Given the description of an element on the screen output the (x, y) to click on. 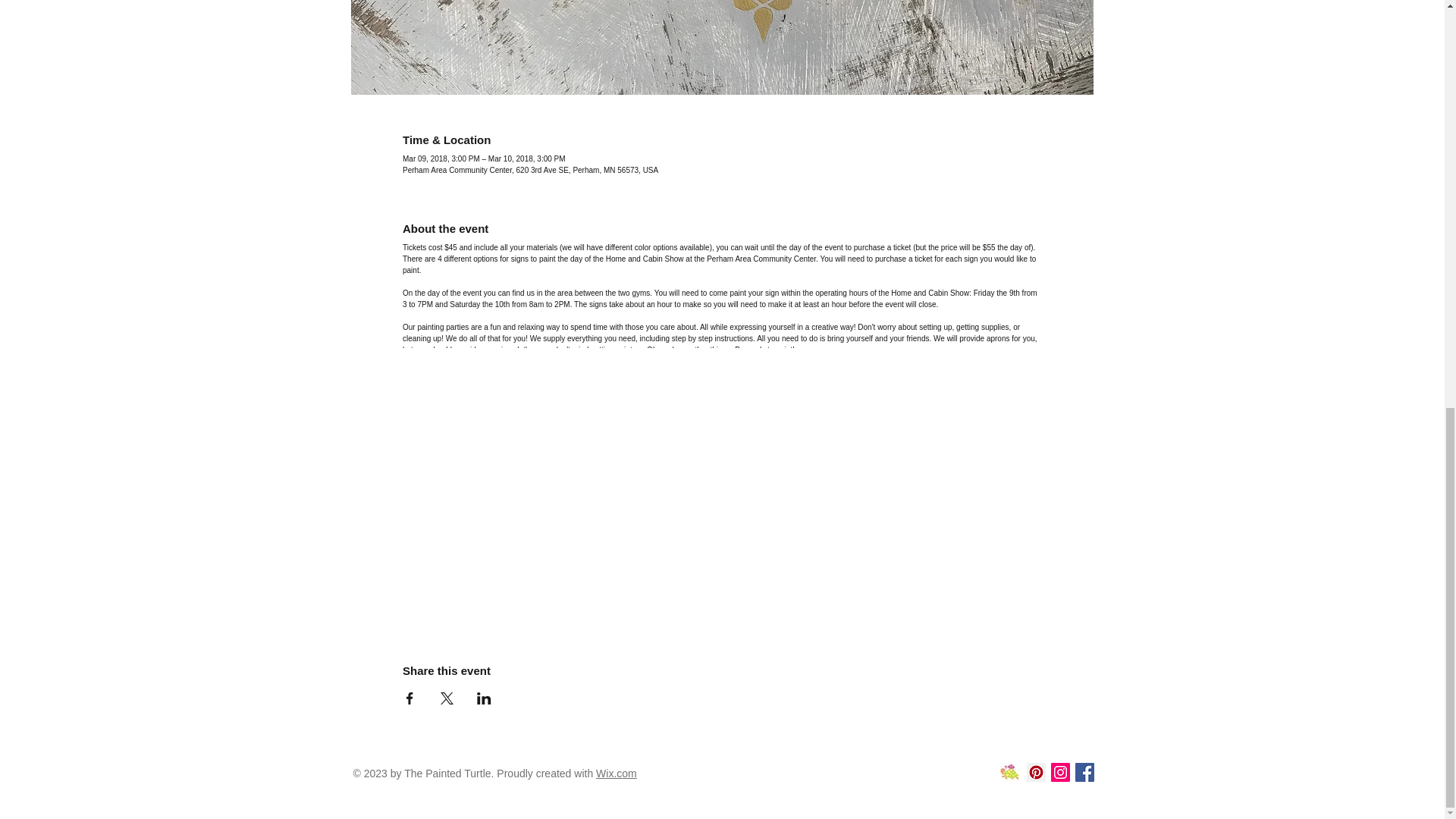
Wix.com (616, 773)
